Given the description of an element on the screen output the (x, y) to click on. 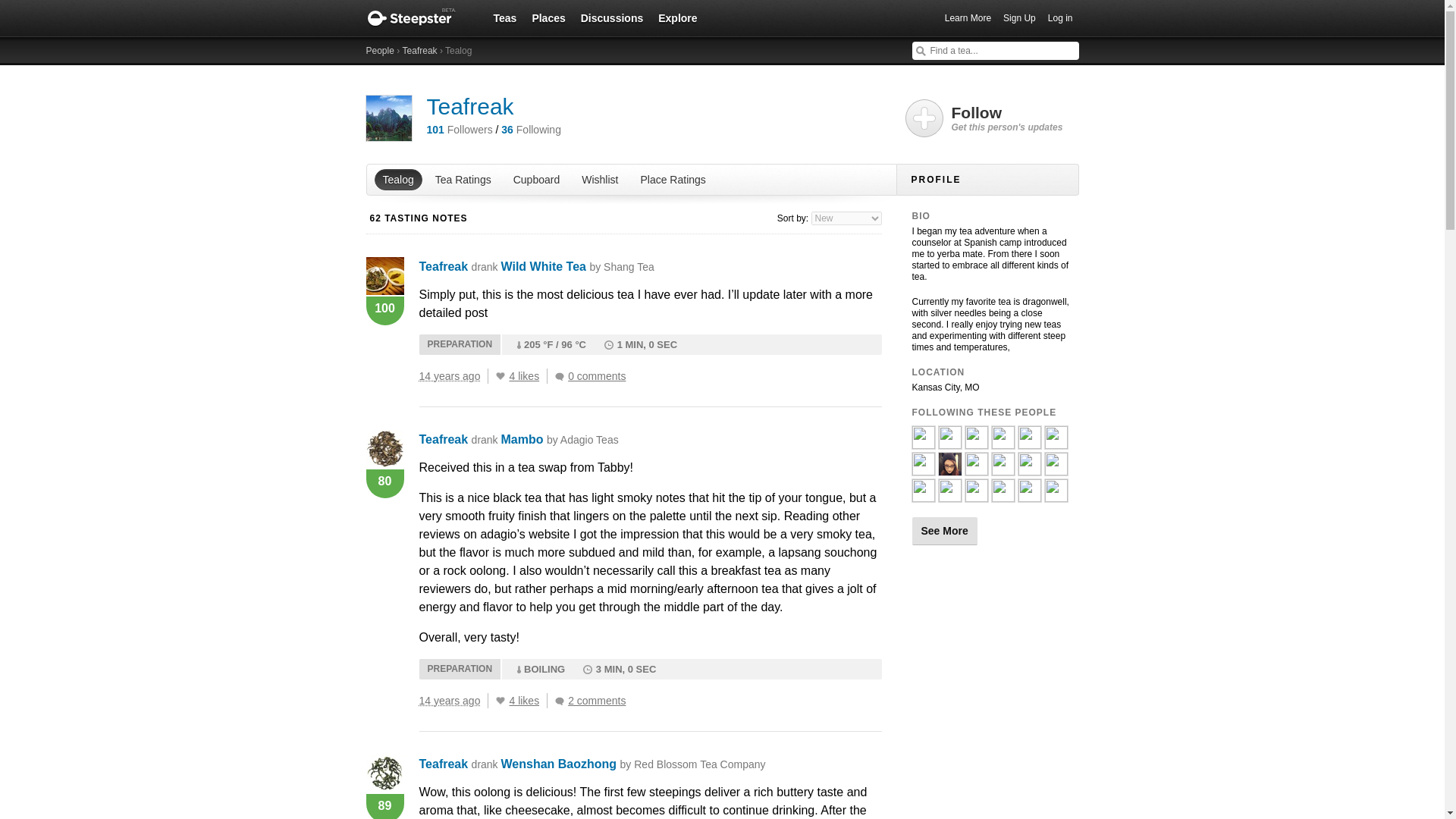
Tea Ratings (463, 179)
Teafreak (443, 439)
Teafreak (443, 266)
4 likes (527, 700)
14 years ago (453, 376)
2010-12-02T06:31:05Z (449, 376)
Learn More (968, 18)
36 Following (530, 129)
Like This (500, 376)
Discussions (612, 17)
